Given the description of an element on the screen output the (x, y) to click on. 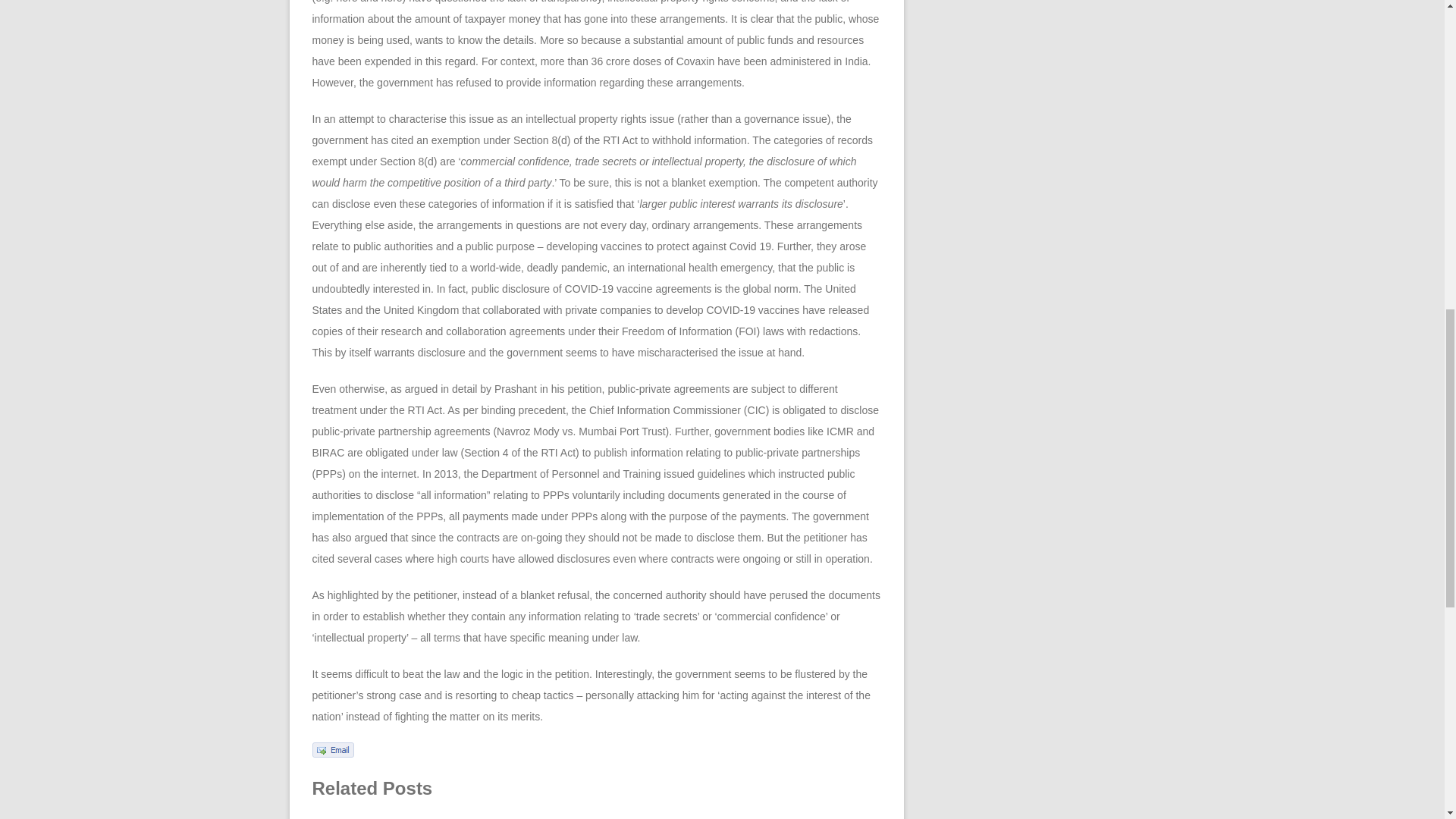
here (346, 2)
here (392, 2)
Send this article to a friend! (333, 753)
United States (584, 299)
Navroz Mody vs. Mumbai Port Trust (580, 431)
United Kingdom (422, 309)
